Given the description of an element on the screen output the (x, y) to click on. 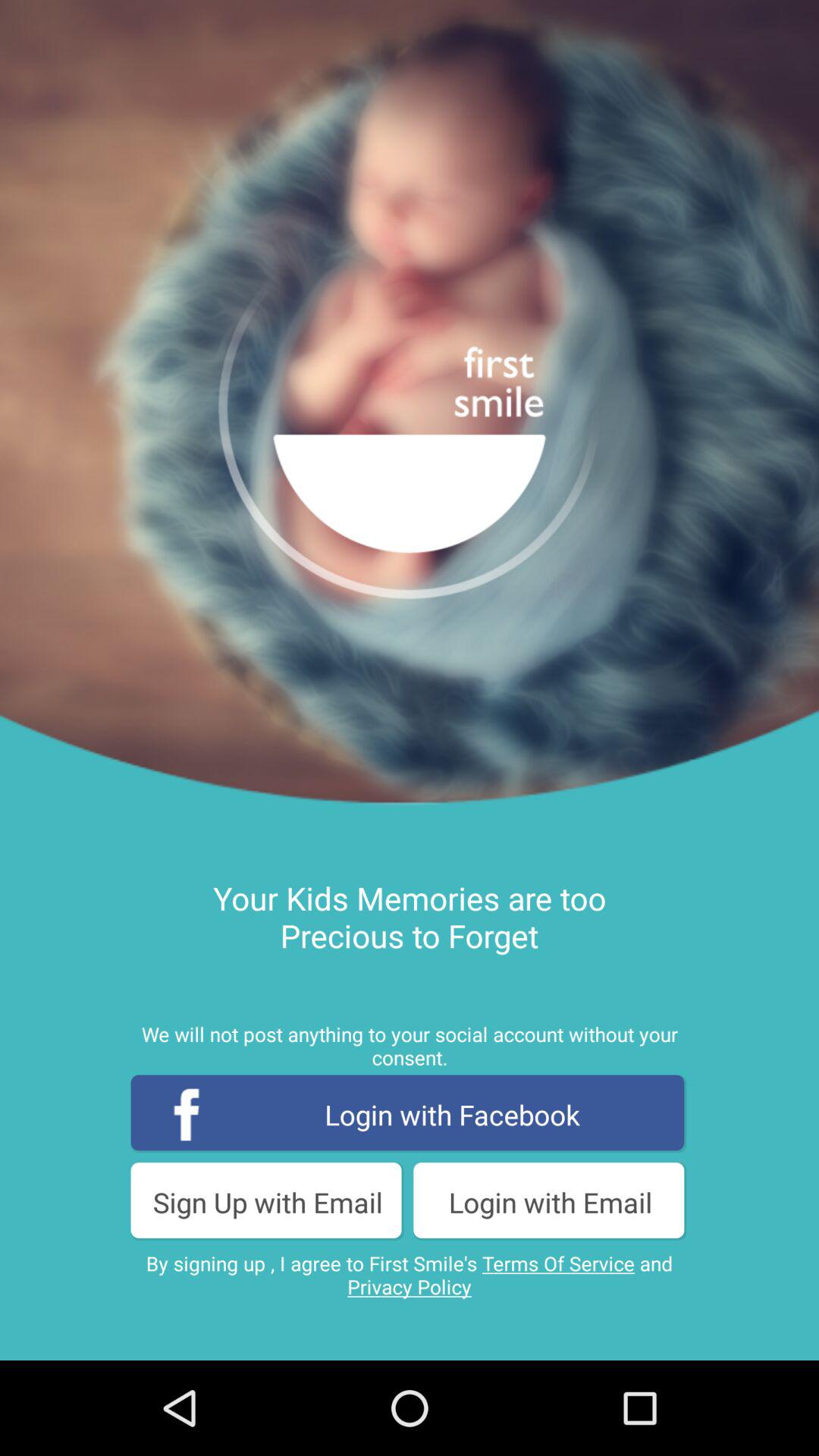
launch item to the left of login with email icon (267, 1202)
